Given the description of an element on the screen output the (x, y) to click on. 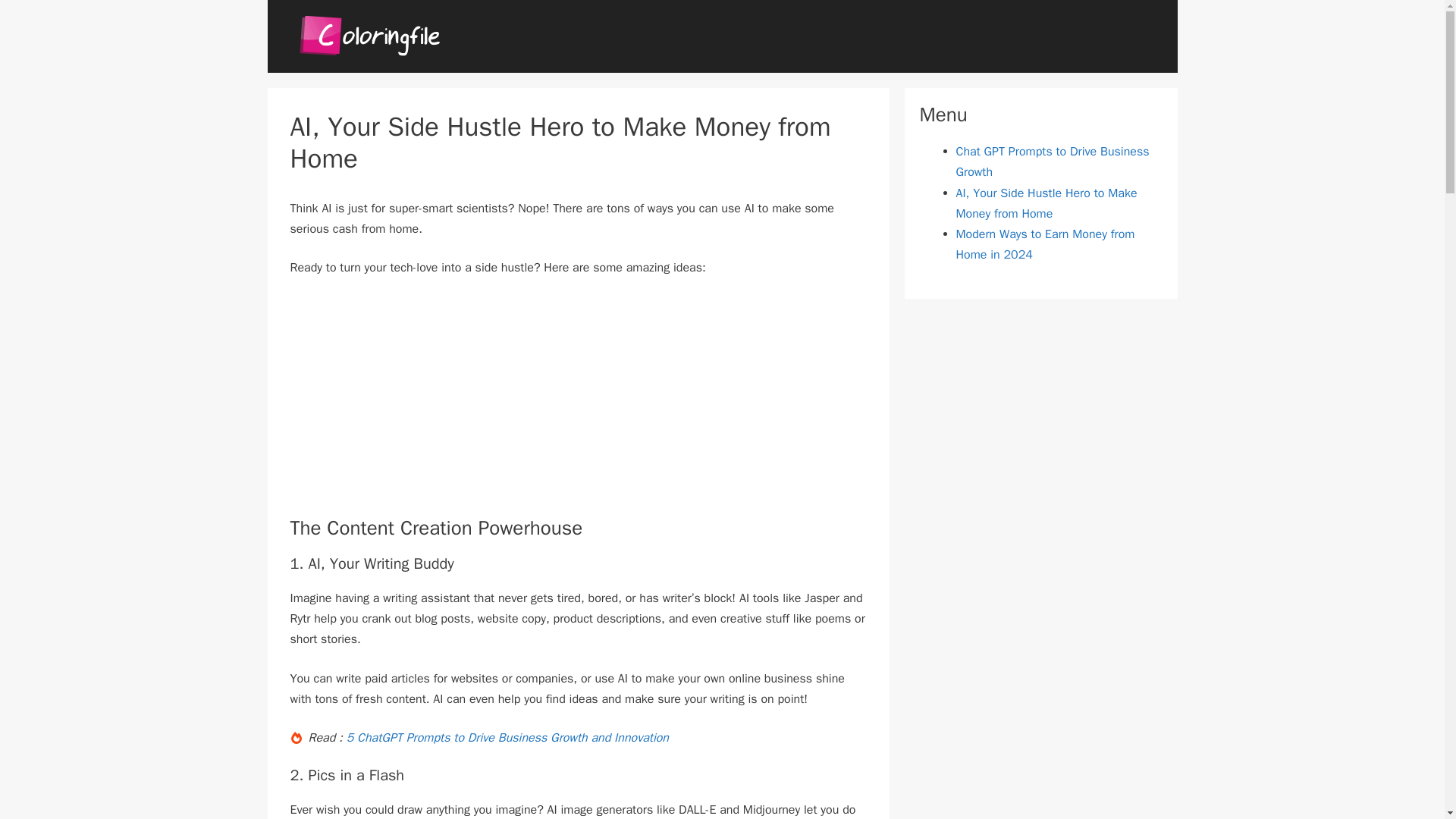
5 ChatGPT Prompts to Drive Business Growth and Innovation (507, 737)
Chat GPT Prompts to Drive Business Growth (1051, 161)
Advertisement (416, 403)
AI, Your Side Hustle Hero to Make Money from Home (1046, 203)
Modern Ways to Earn Money from Home in 2024 (1044, 244)
